Given the description of an element on the screen output the (x, y) to click on. 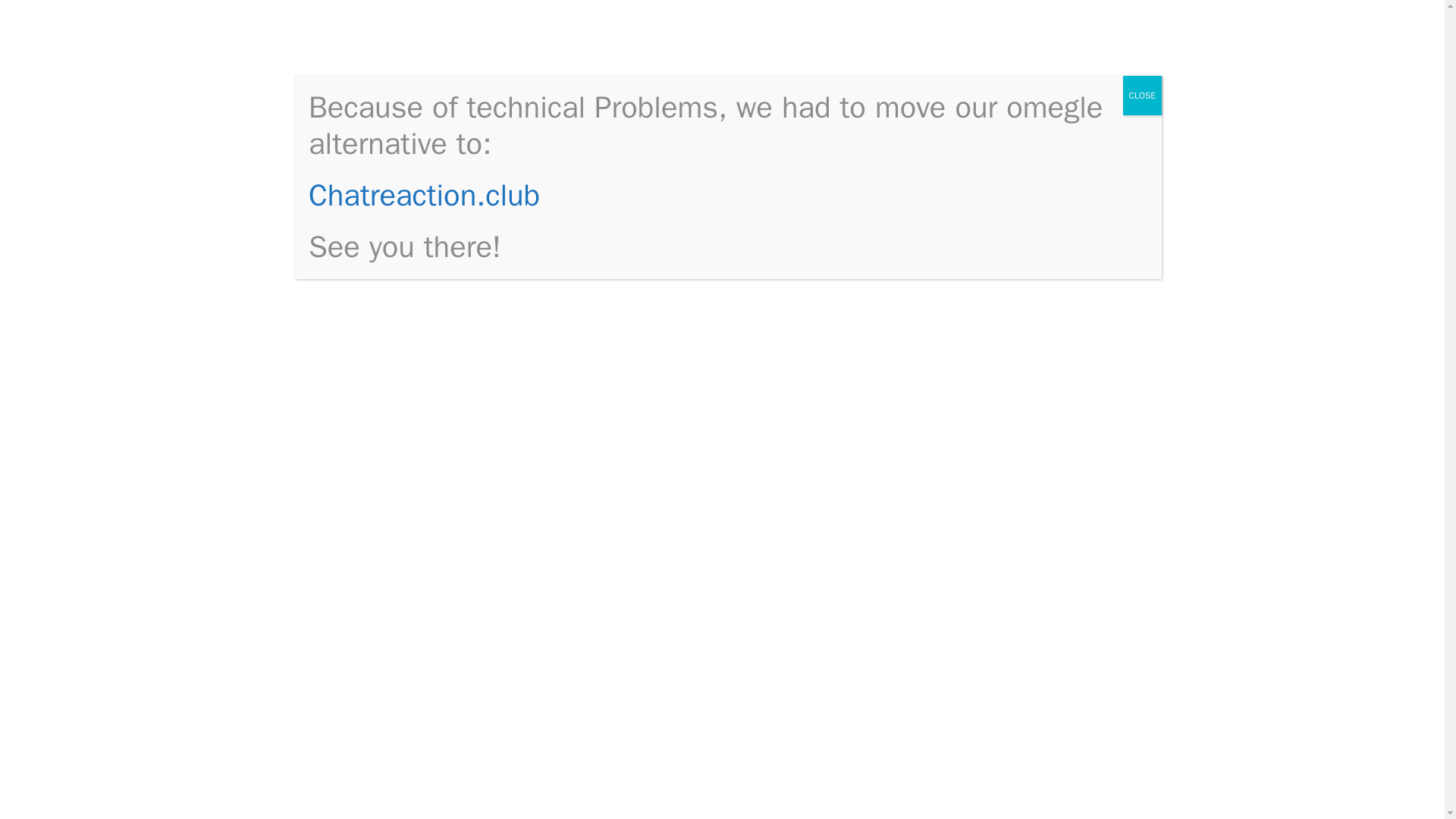
Post Comment (391, 606)
